Given the description of an element on the screen output the (x, y) to click on. 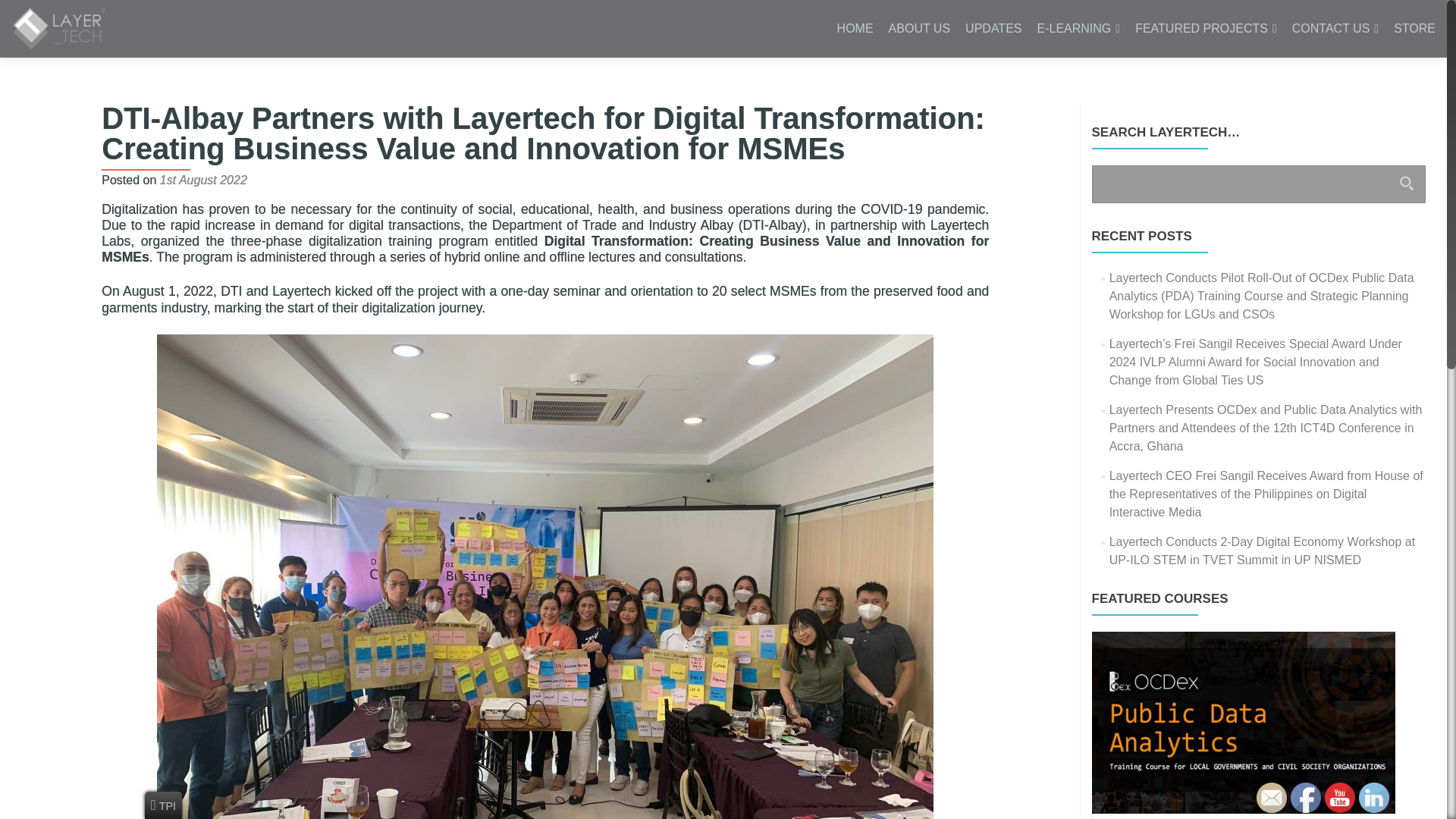
Search (1406, 182)
Our YouTube (1339, 797)
E-LEARNING (1077, 28)
CONTACT US (1335, 28)
1st August 2022 (203, 179)
Search (1406, 182)
ABOUT US (919, 28)
STORE (1414, 28)
Search (1406, 182)
Our Facebook (1305, 797)
Our LinkedIn (1373, 797)
